Given the description of an element on the screen output the (x, y) to click on. 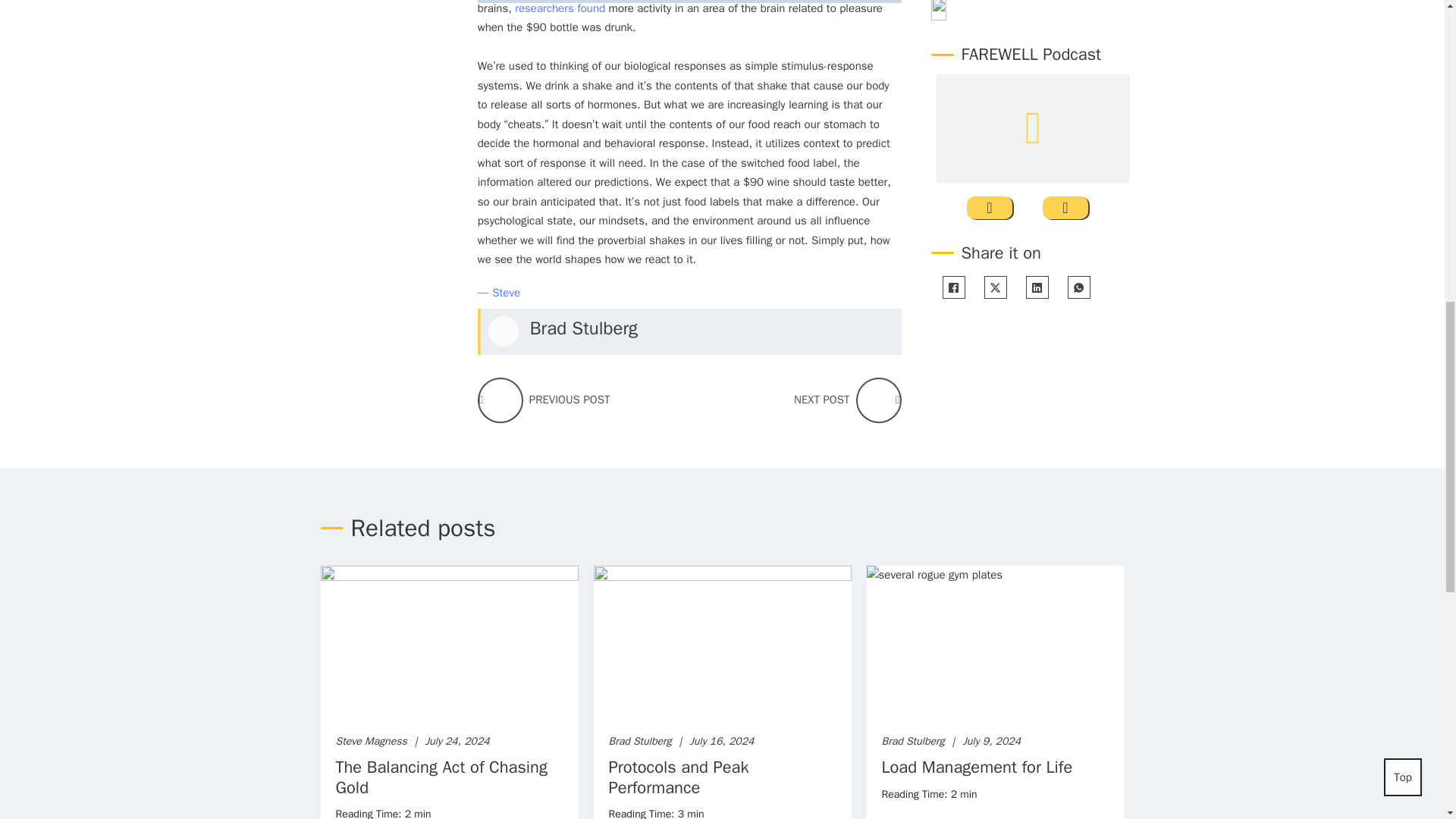
Steve (505, 292)
NEXT POST (878, 400)
PREVIOUS POST (499, 400)
researchers found (560, 8)
